Given the description of an element on the screen output the (x, y) to click on. 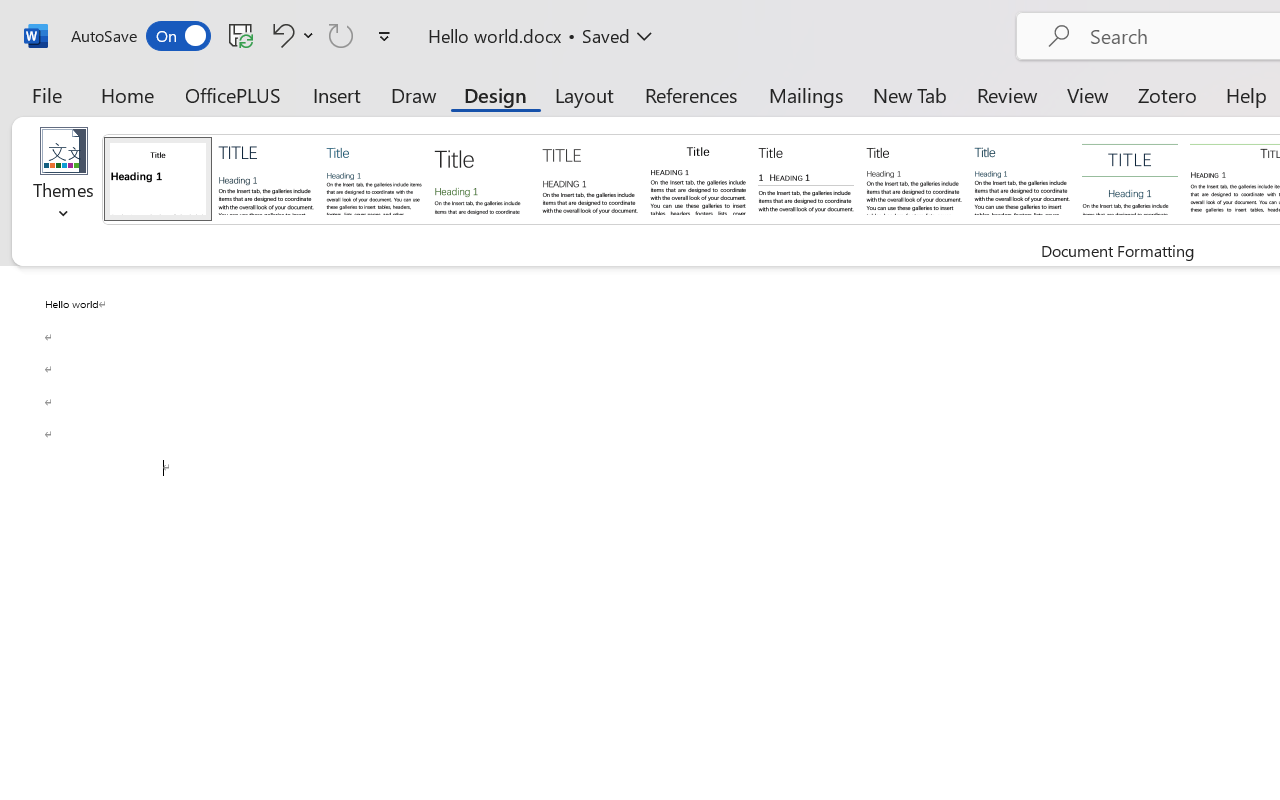
Mailings (806, 94)
Basic (Simple) (373, 178)
Black & White (Classic) (697, 178)
Design (495, 94)
Document (157, 178)
Insert (337, 94)
Black & White (Capitalized) (589, 178)
Quick Access Toolbar (233, 36)
View (1087, 94)
OfficePLUS (233, 94)
Draw (413, 94)
Black & White (Word 2013) (913, 178)
Centered (1130, 178)
